Given the description of an element on the screen output the (x, y) to click on. 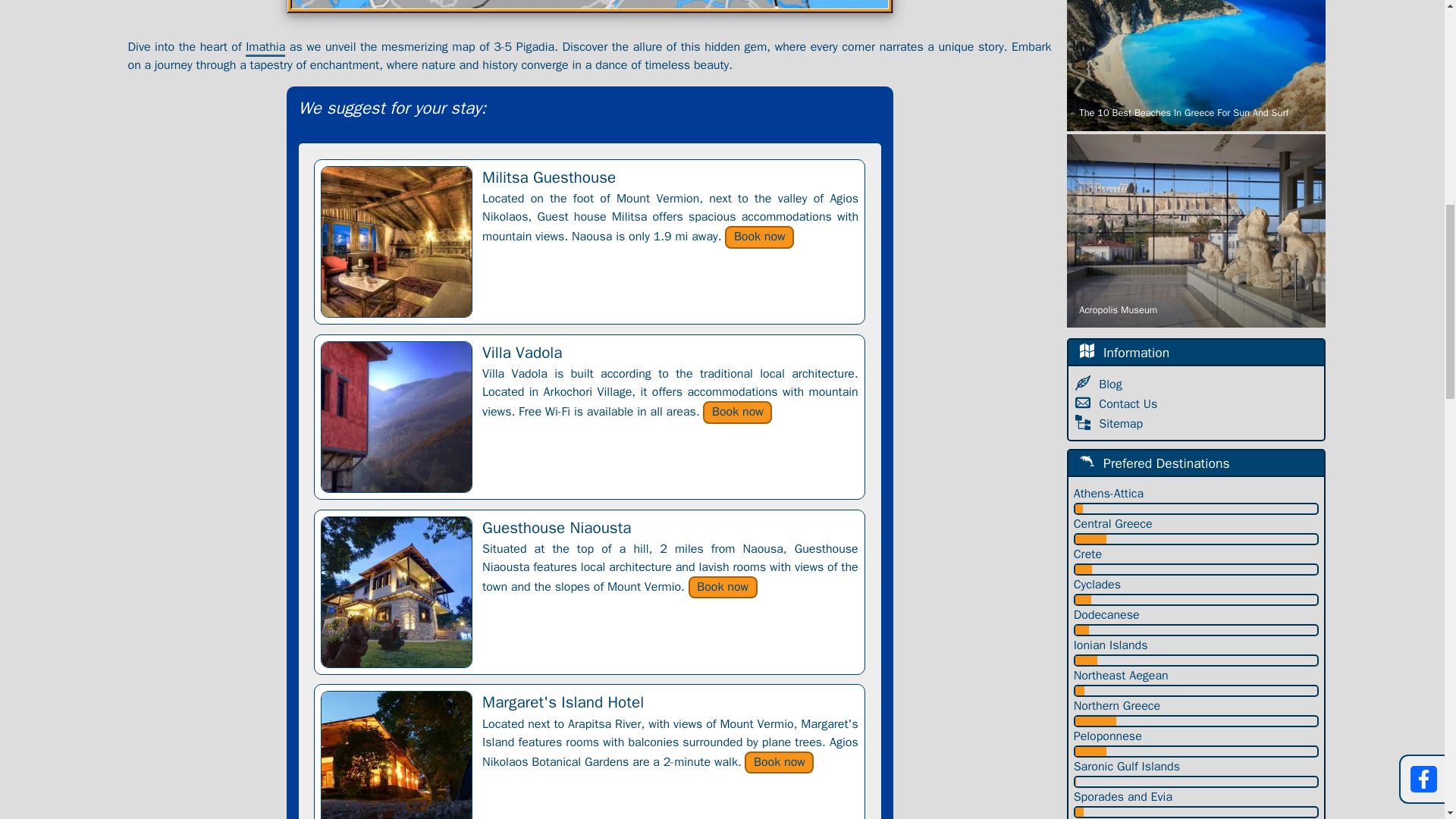
The 10 Best Beaches In Greece For Sun And Surf (1195, 65)
Blog (1112, 384)
Acropolis Museum (1195, 231)
Imathia (265, 47)
The 10 Best Beaches In Greece For Sun And Surf (1195, 65)
Acropolis Museum (1195, 231)
